Given the description of an element on the screen output the (x, y) to click on. 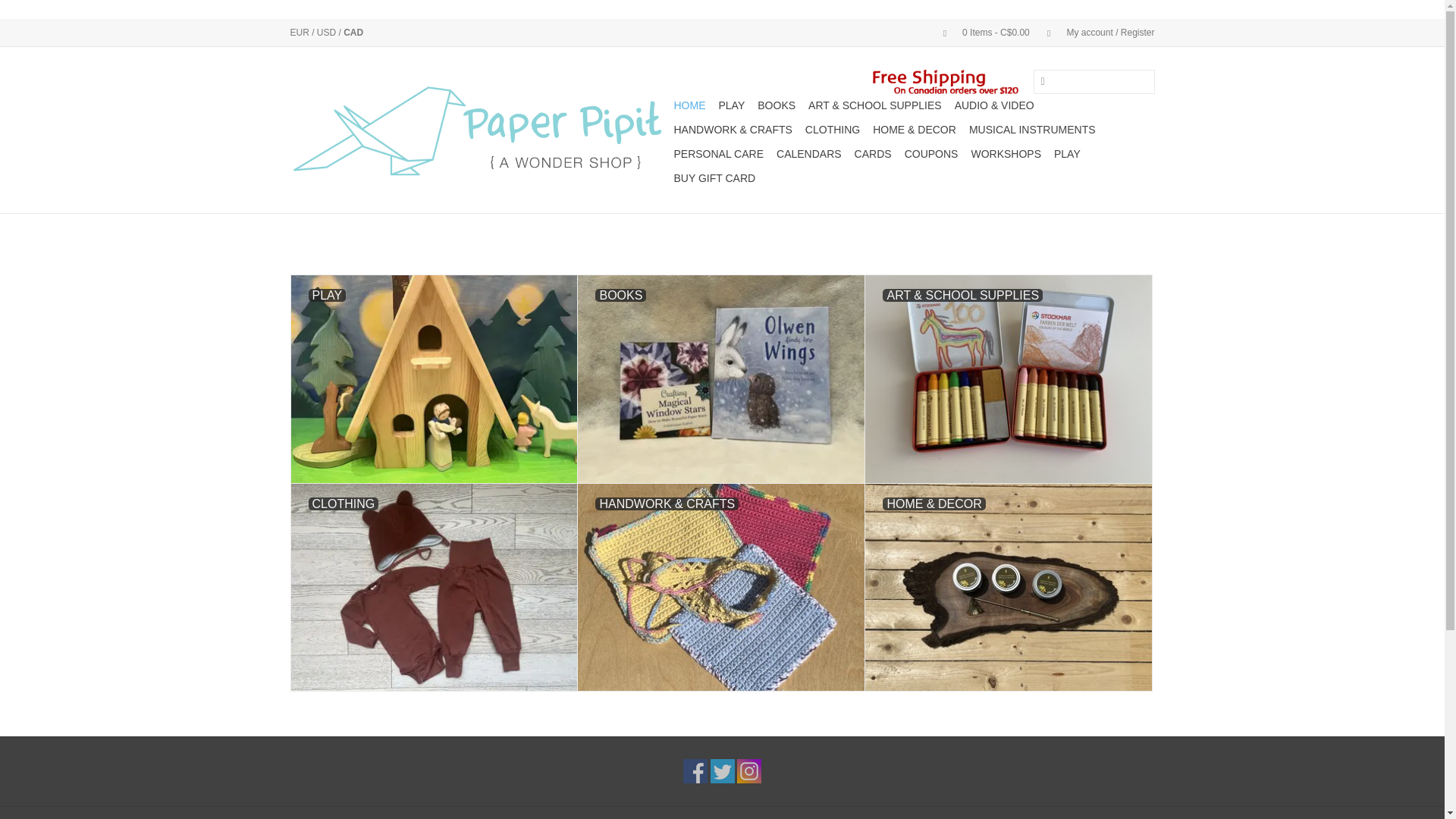
CAD (352, 32)
BOOKS (775, 105)
eur (300, 32)
My account (1093, 32)
USD (328, 32)
Cart (980, 32)
EUR (300, 32)
 Play (731, 105)
usd (328, 32)
Paper Pipit (478, 129)
